Given the description of an element on the screen output the (x, y) to click on. 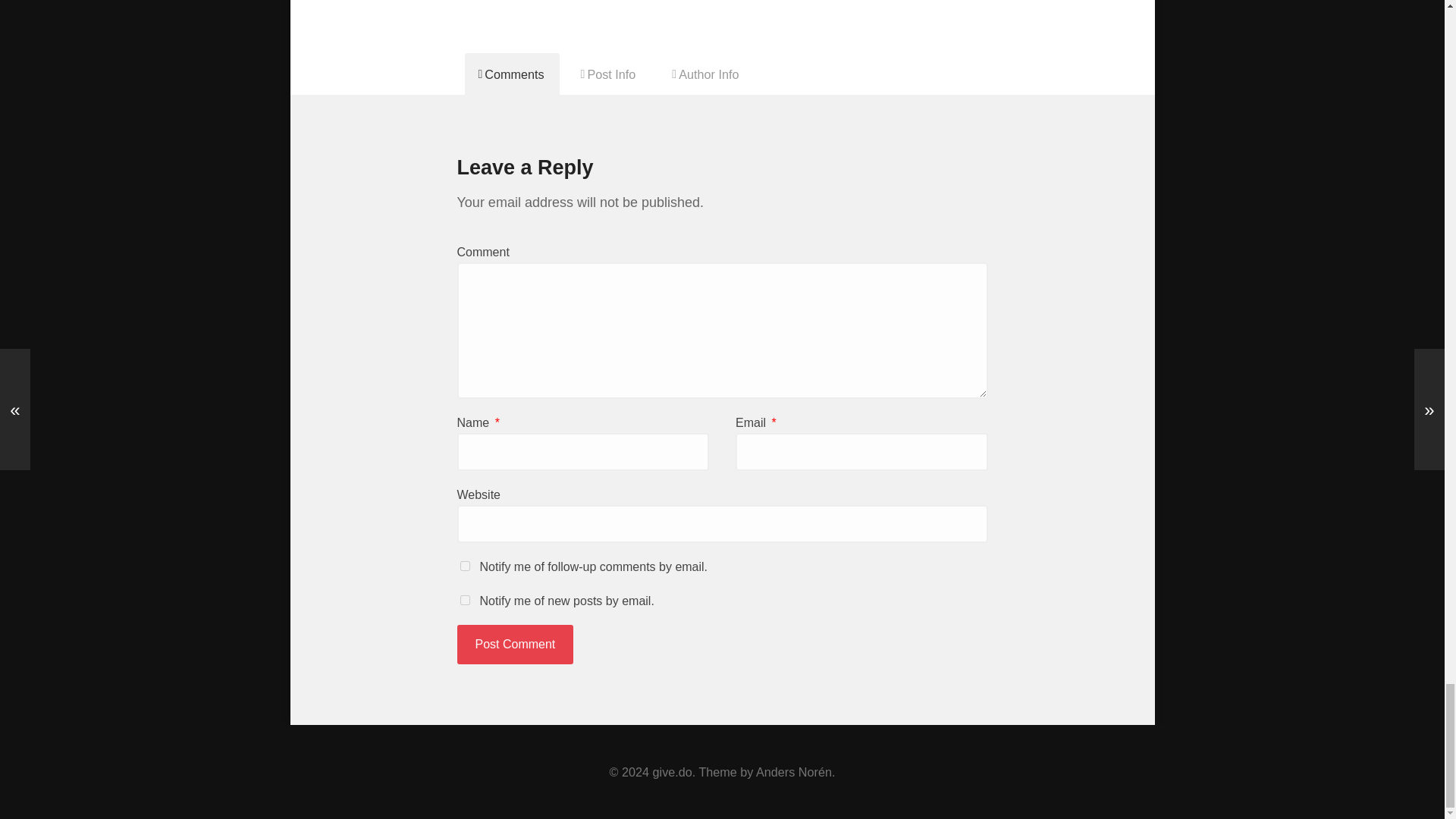
subscribe (464, 565)
subscribe (464, 600)
Post Comment (515, 644)
